Given the description of an element on the screen output the (x, y) to click on. 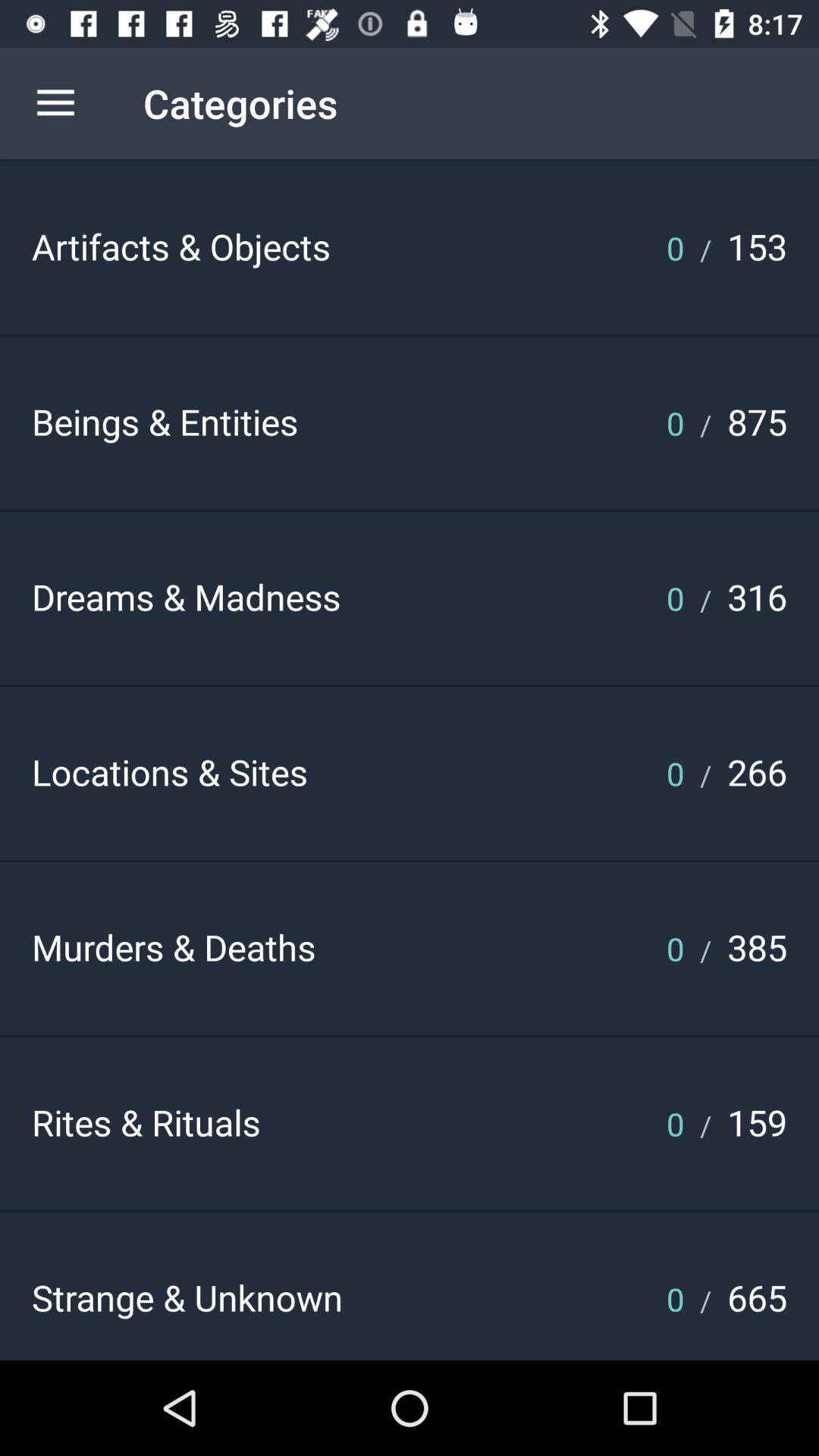
select the icon above the artifacts & objects icon (55, 103)
